Given the description of an element on the screen output the (x, y) to click on. 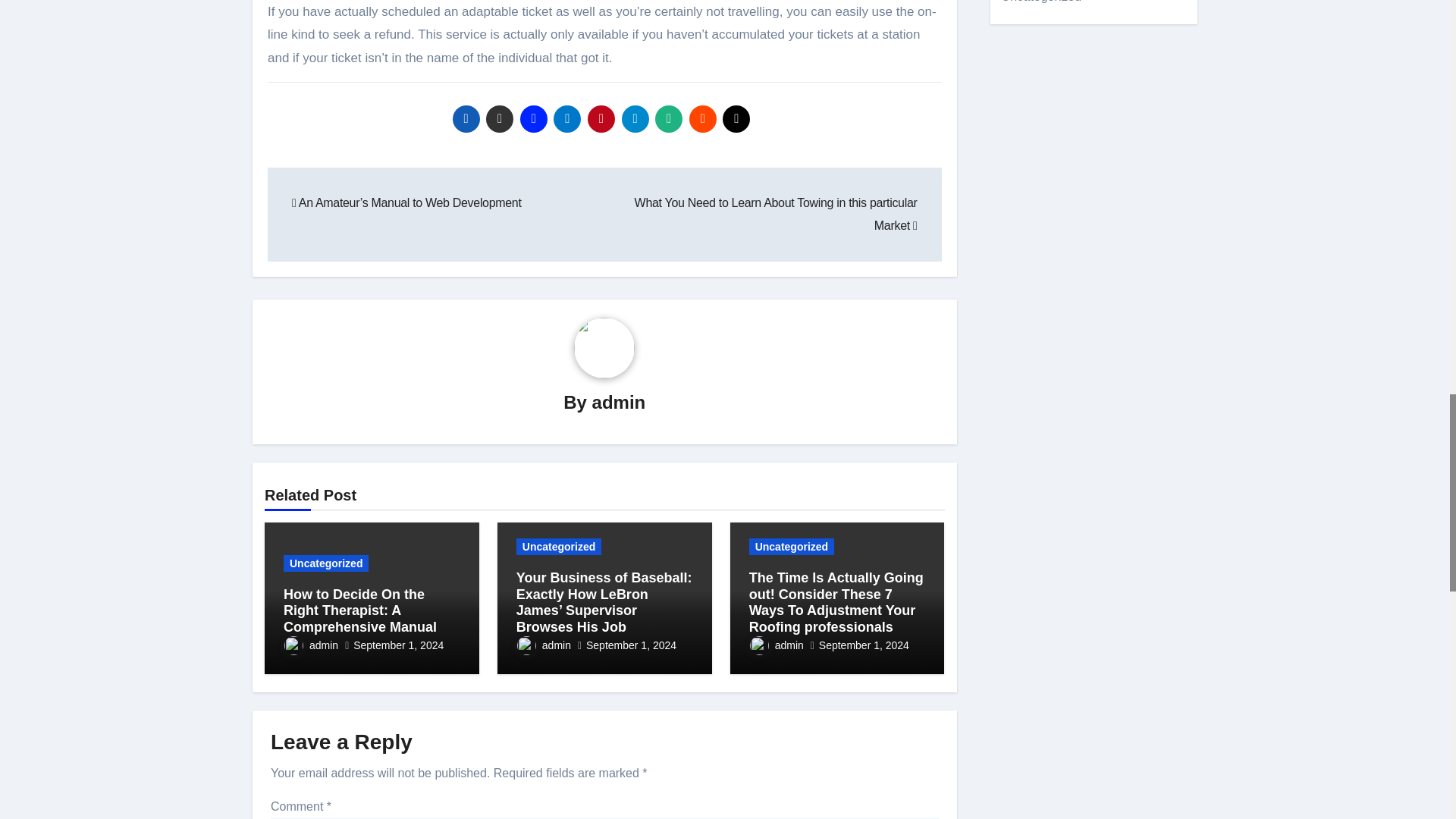
September 1, 2024 (398, 645)
How to Decide On the Right Therapist: A Comprehensive Manual (359, 610)
admin (619, 402)
Uncategorized (325, 563)
admin (310, 645)
